Given the description of an element on the screen output the (x, y) to click on. 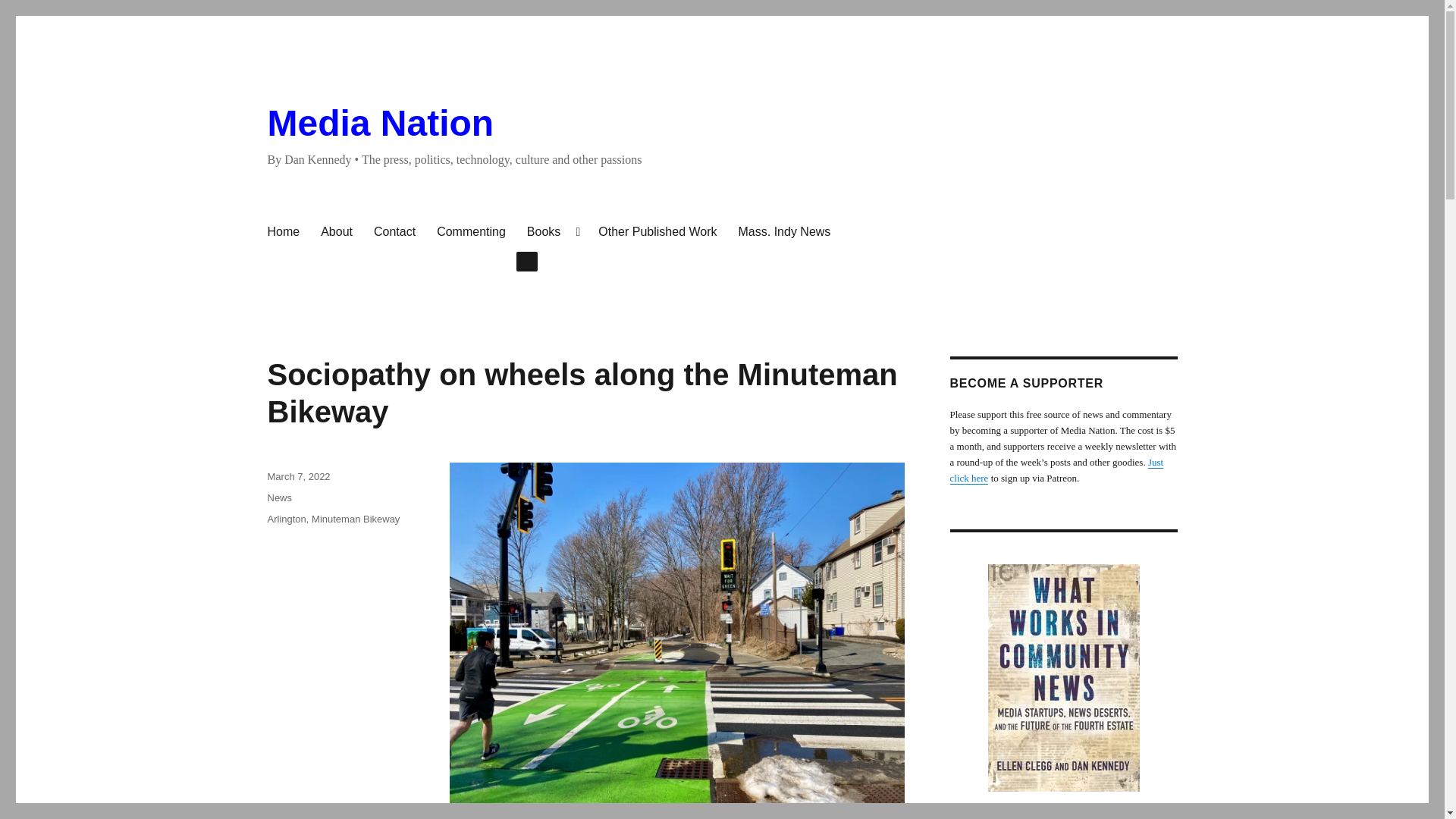
Commenting (471, 232)
Home (283, 232)
Mass. Indy News (784, 232)
About (336, 232)
EXPAND CHILD MENU (526, 261)
Media Nation (379, 123)
March 7, 2022 (298, 476)
Other Published Work (657, 232)
News (279, 497)
Books (552, 232)
